Given the description of an element on the screen output the (x, y) to click on. 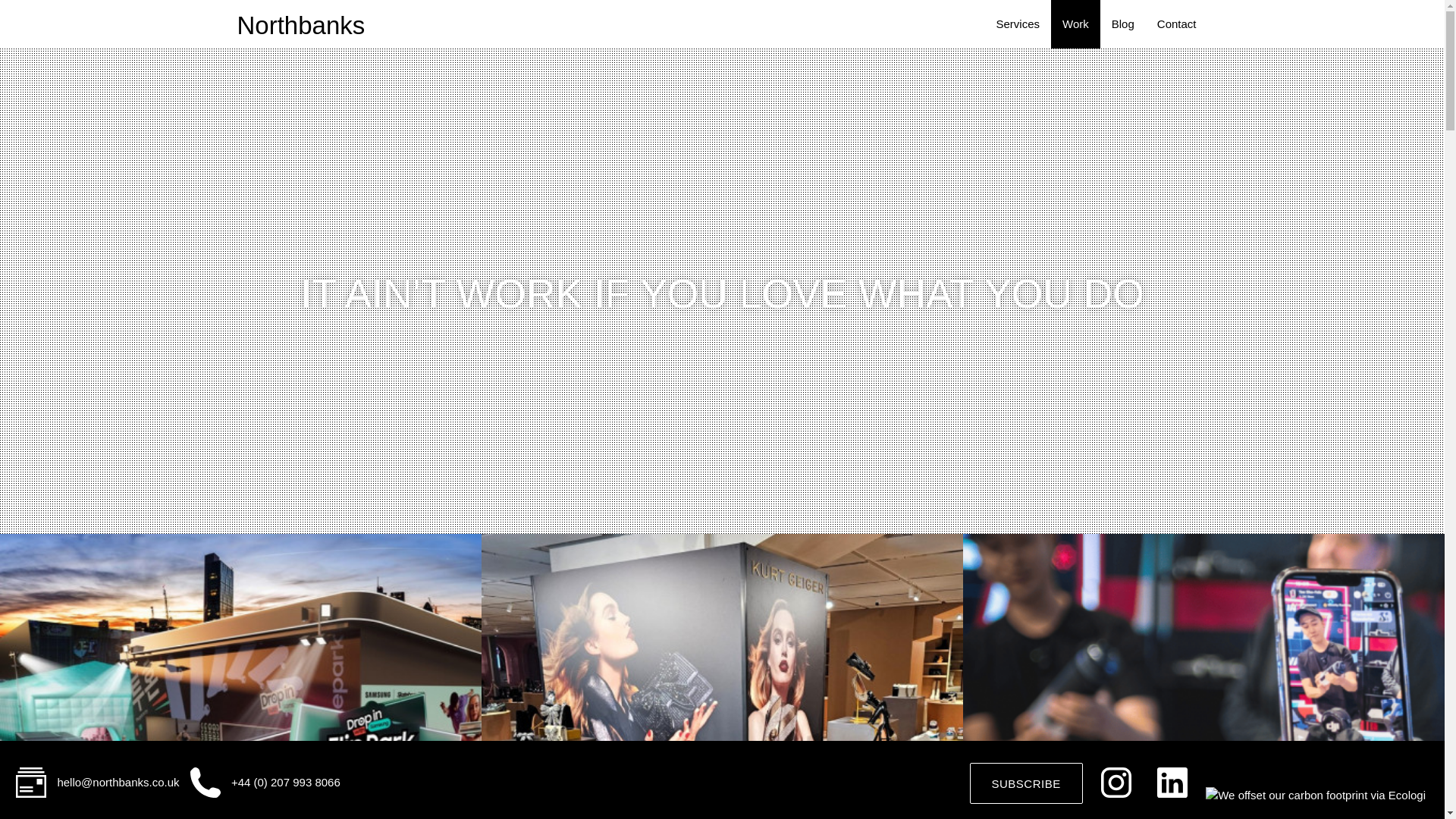
Contact (1176, 24)
View our Ecologi profile (1321, 781)
Work (1075, 24)
Blog (1122, 24)
SUBSCRIBE (1026, 782)
Services (1017, 24)
